Given the description of an element on the screen output the (x, y) to click on. 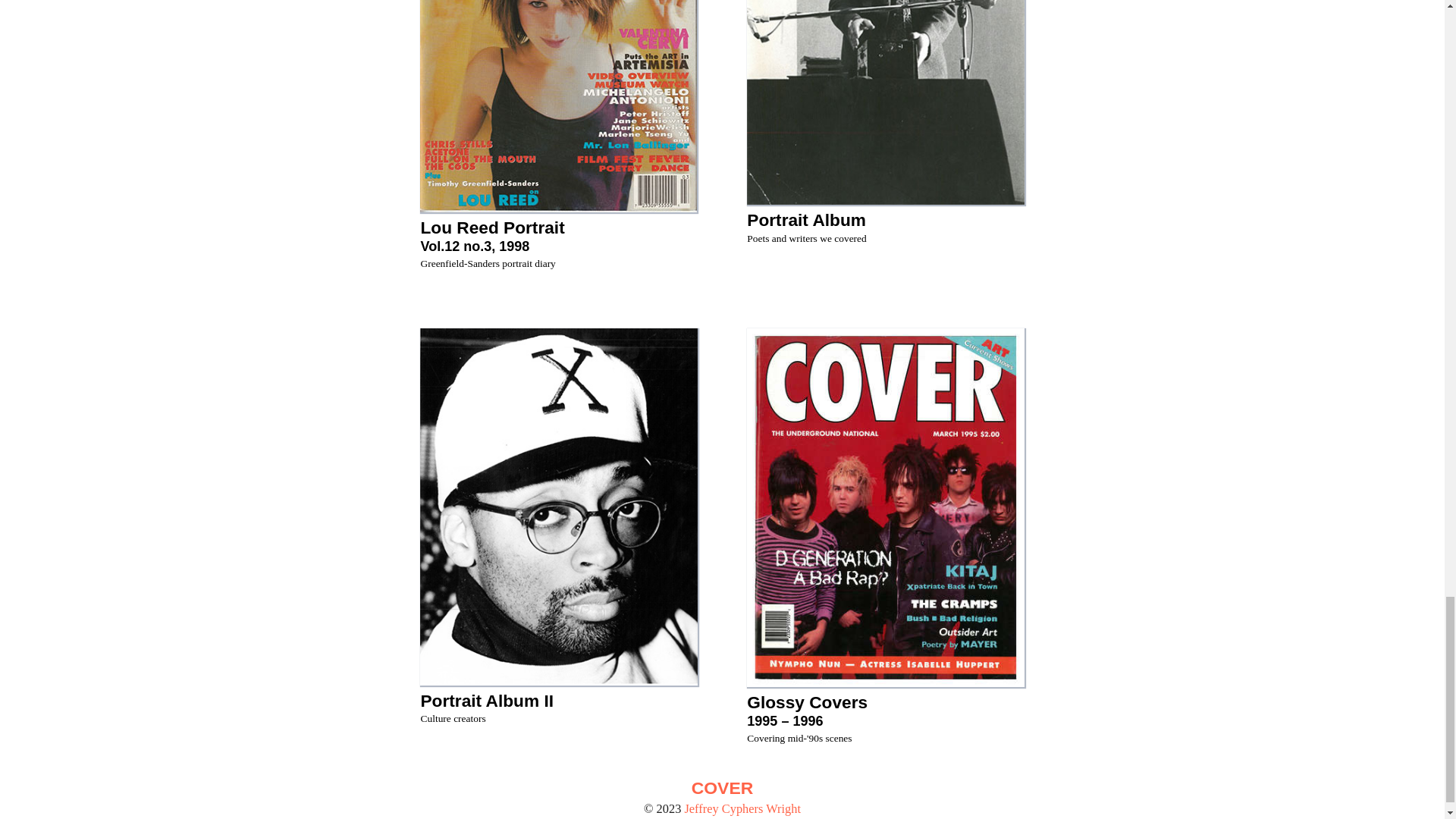
COVER (722, 788)
Jeffrey Cyphers Wright (558, 699)
